Given the description of an element on the screen output the (x, y) to click on. 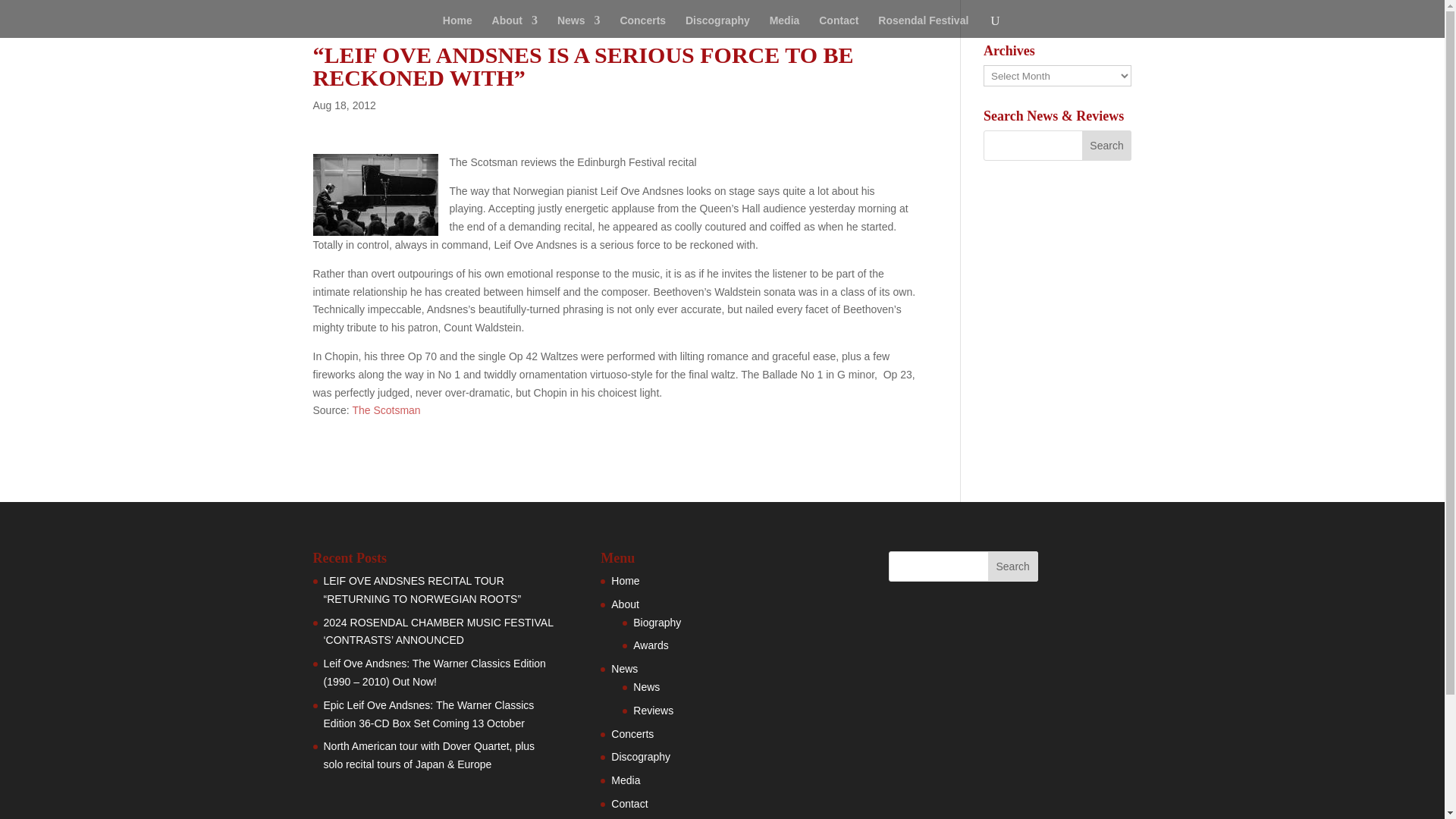
Discography (640, 756)
Rosendal Festival (922, 26)
About (514, 26)
Reviews (652, 710)
Search (1013, 566)
News (624, 668)
Home (625, 580)
Search (1106, 145)
The Scotsman (386, 410)
Media (784, 26)
